Given the description of an element on the screen output the (x, y) to click on. 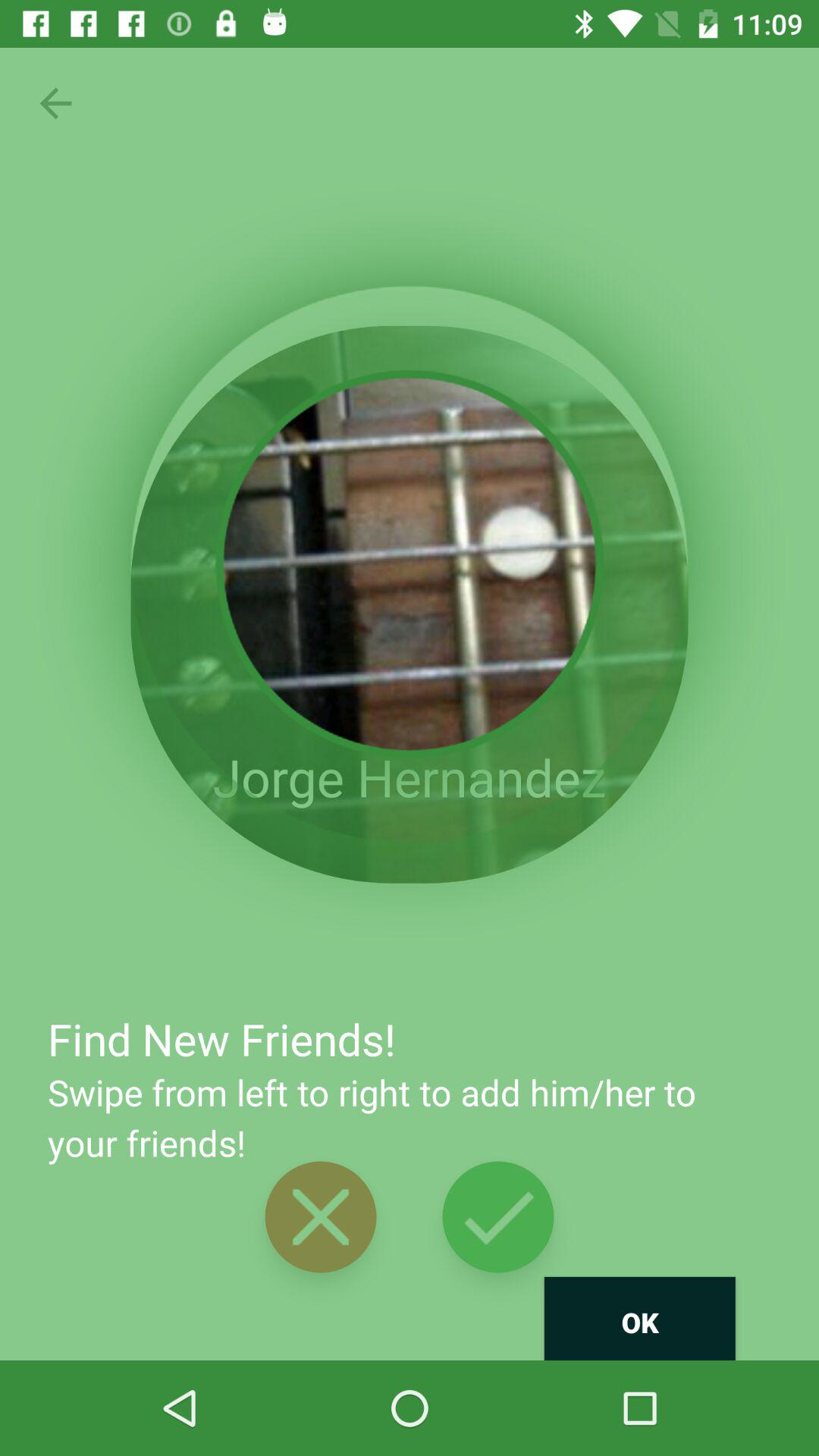
go back option (55, 103)
